Given the description of an element on the screen output the (x, y) to click on. 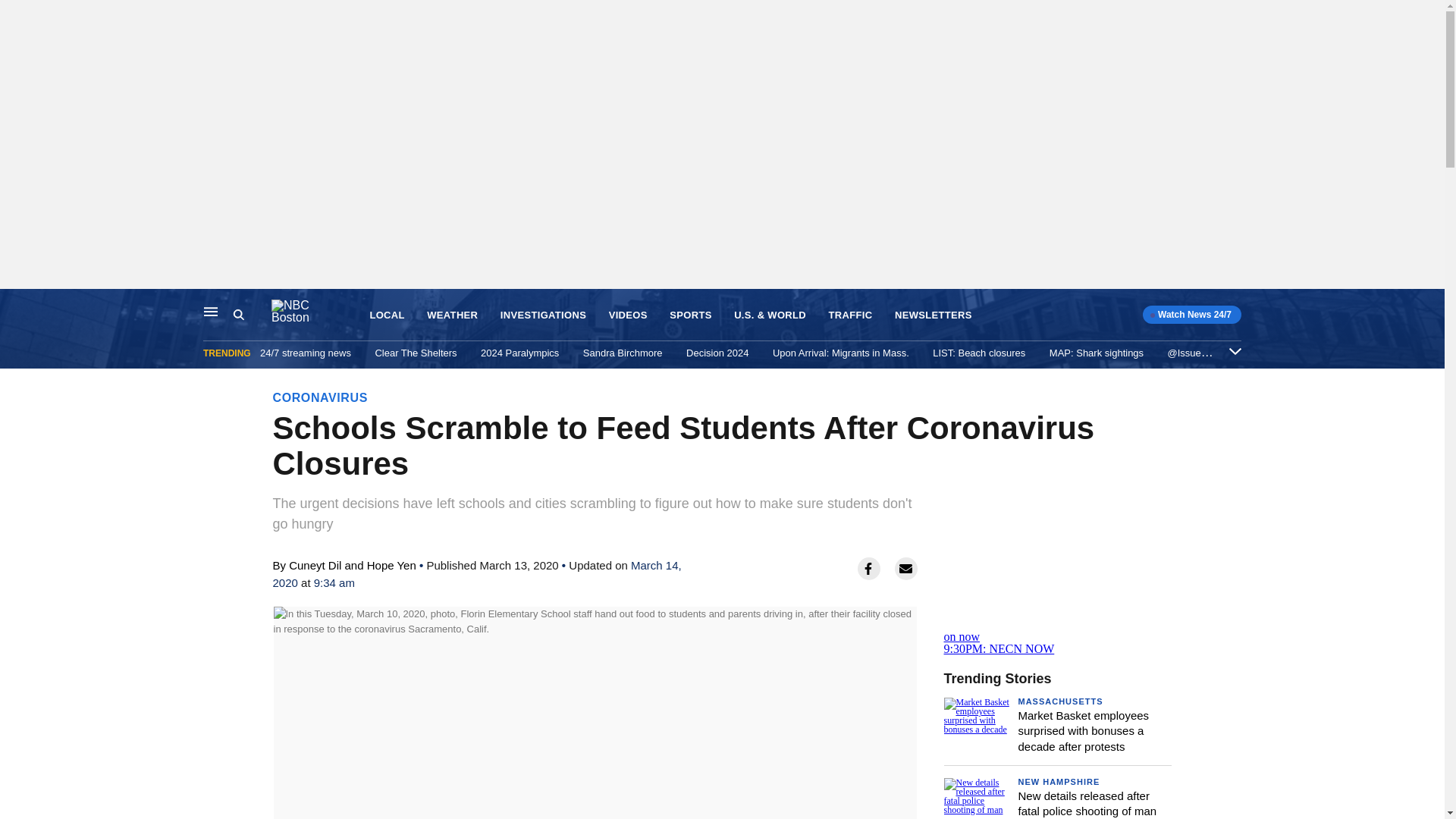
Sandra Birchmore (622, 352)
Search (238, 314)
Expand (1234, 350)
LIST: Beach closures (979, 352)
LOCAL (386, 315)
Upon Arrival: Migrants in Mass. (840, 352)
Decision 2024 (716, 352)
NEWSLETTERS (933, 315)
VIDEOS (627, 315)
CORONAVIRUS (320, 397)
